Given the description of an element on the screen output the (x, y) to click on. 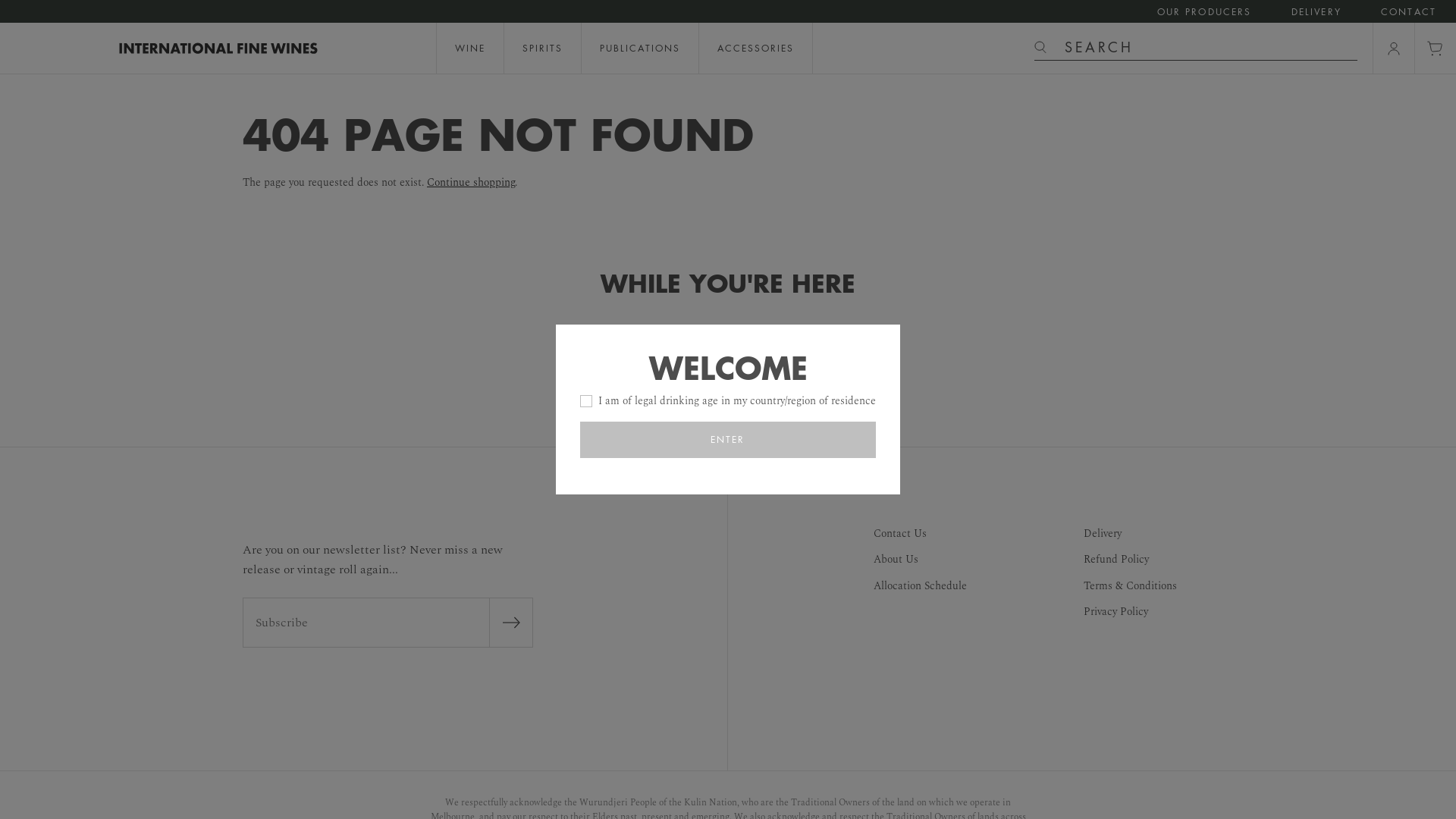
SEARCH Element type: text (1201, 47)
RECOMMENDED Element type: text (642, 337)
Delivery Element type: text (1129, 533)
DELIVERY Element type: text (1316, 11)
Continue shopping Element type: text (470, 182)
Privacy Policy Element type: text (1129, 611)
About Us Element type: text (919, 559)
Contact Us Element type: text (919, 533)
Terms & Conditions Element type: text (1129, 585)
OUR PRODUCERS Element type: text (1204, 11)
CONTACT Element type: text (1408, 11)
RECENTLY VIEWED Element type: text (805, 337)
Refund Policy Element type: text (1129, 559)
ENTER Element type: text (727, 439)
Allocation Schedule Element type: text (919, 585)
